Given the description of an element on the screen output the (x, y) to click on. 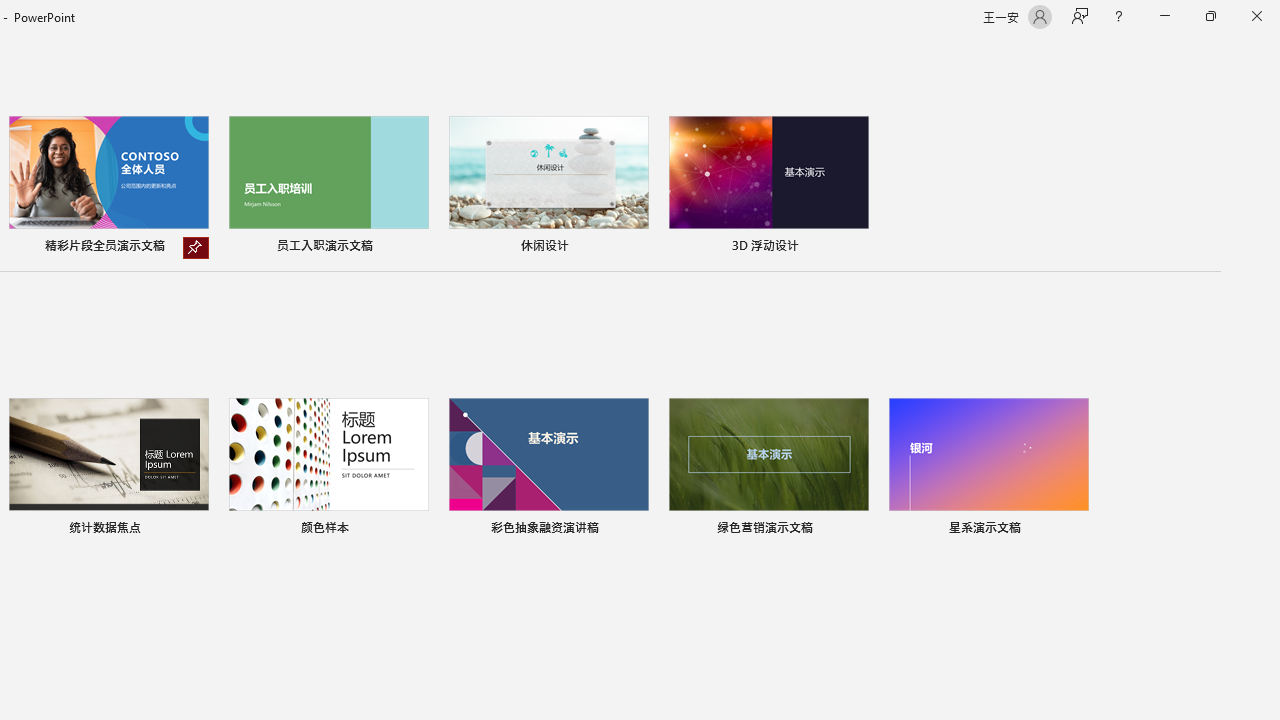
Unpin from list (195, 247)
Pin to list (1075, 529)
